Given the description of an element on the screen output the (x, y) to click on. 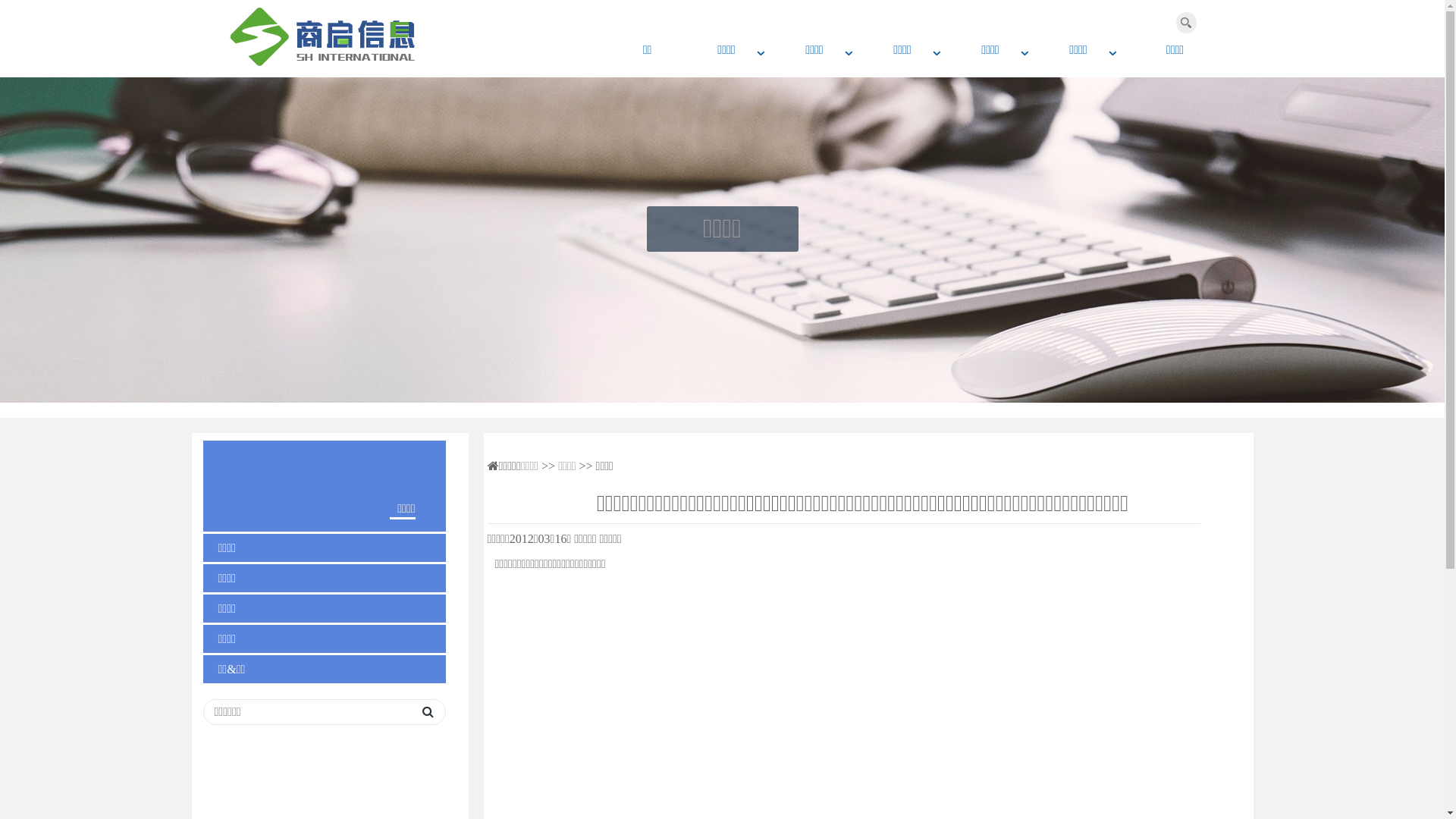
dMed Element type: hover (346, 36)
